Given the description of an element on the screen output the (x, y) to click on. 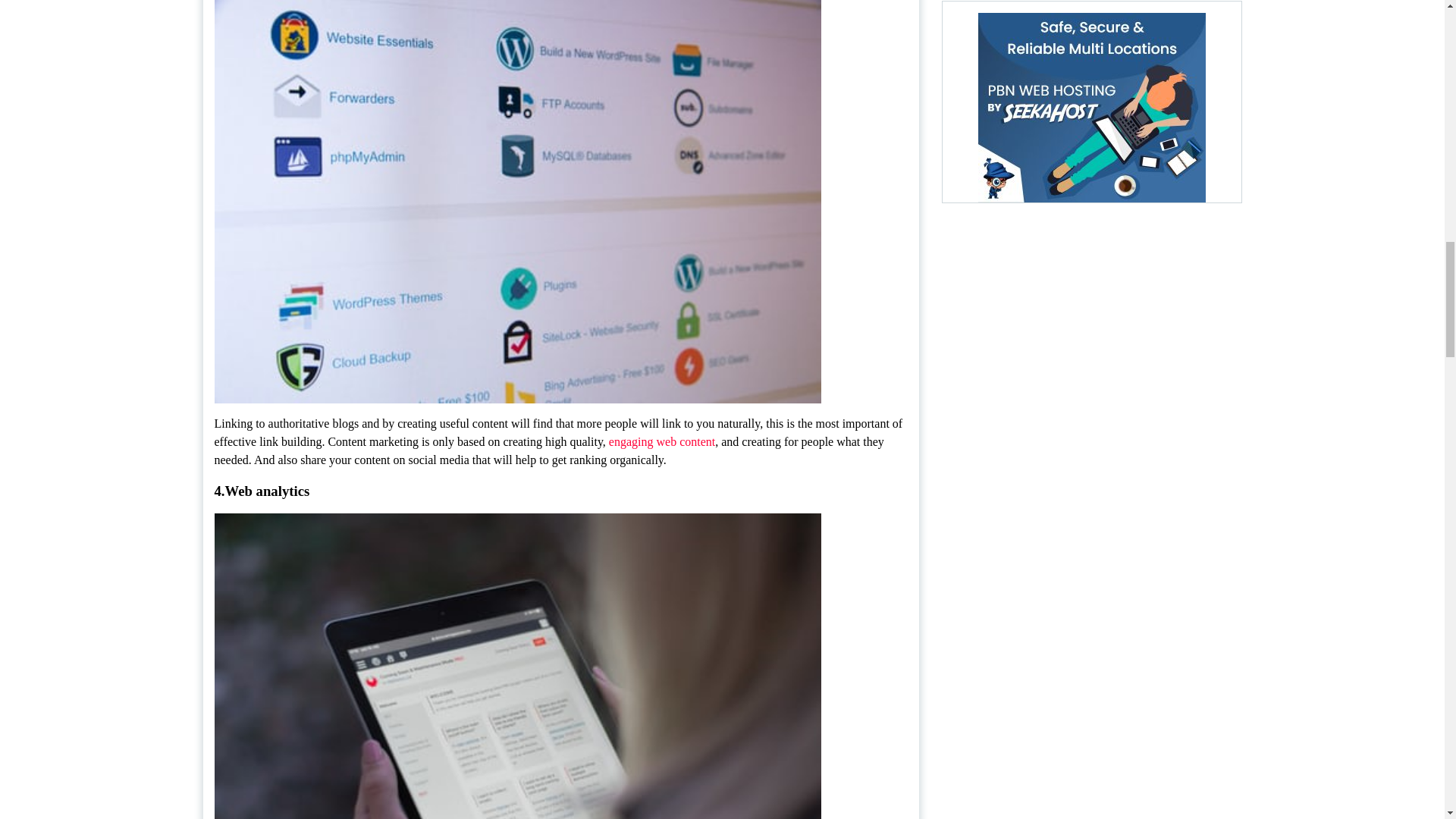
engaging web content (661, 440)
